Given the description of an element on the screen output the (x, y) to click on. 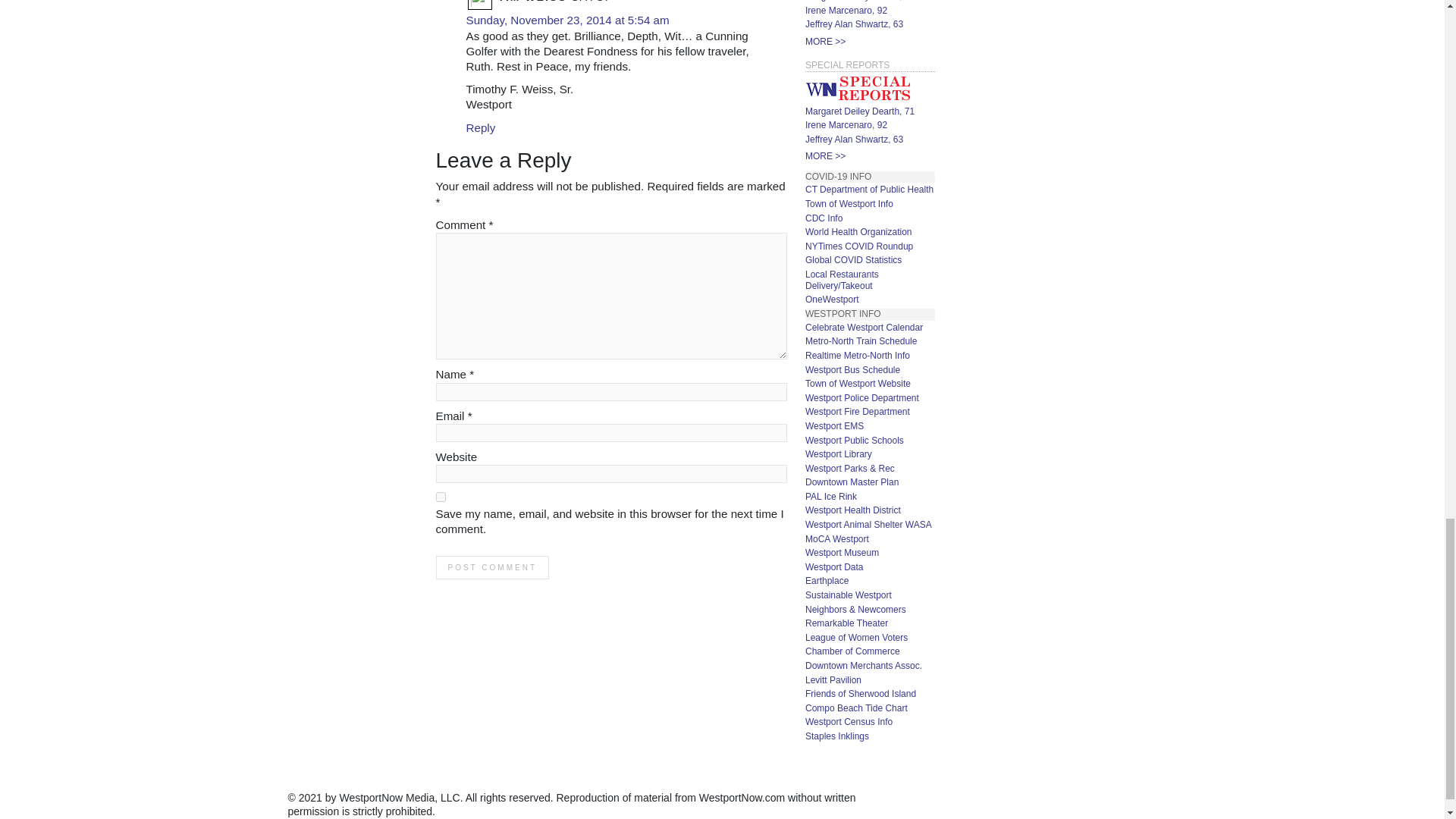
yes (440, 497)
Sunday, November 23, 2014 at 5:54 am (566, 19)
Reply (480, 127)
Post Comment (491, 567)
Post Comment (491, 567)
